Given the description of an element on the screen output the (x, y) to click on. 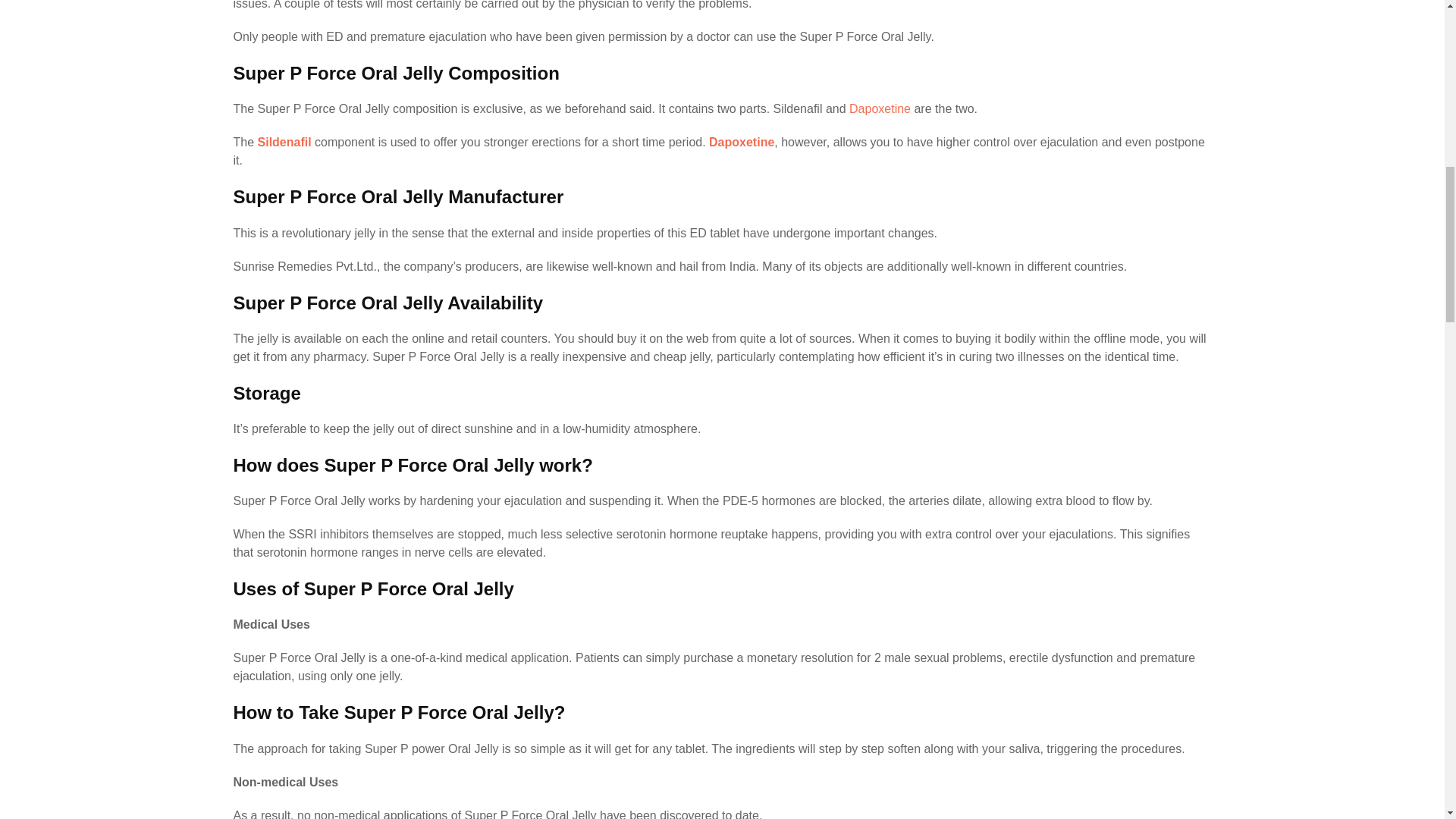
Scroll To Top (1414, 22)
